Given the description of an element on the screen output the (x, y) to click on. 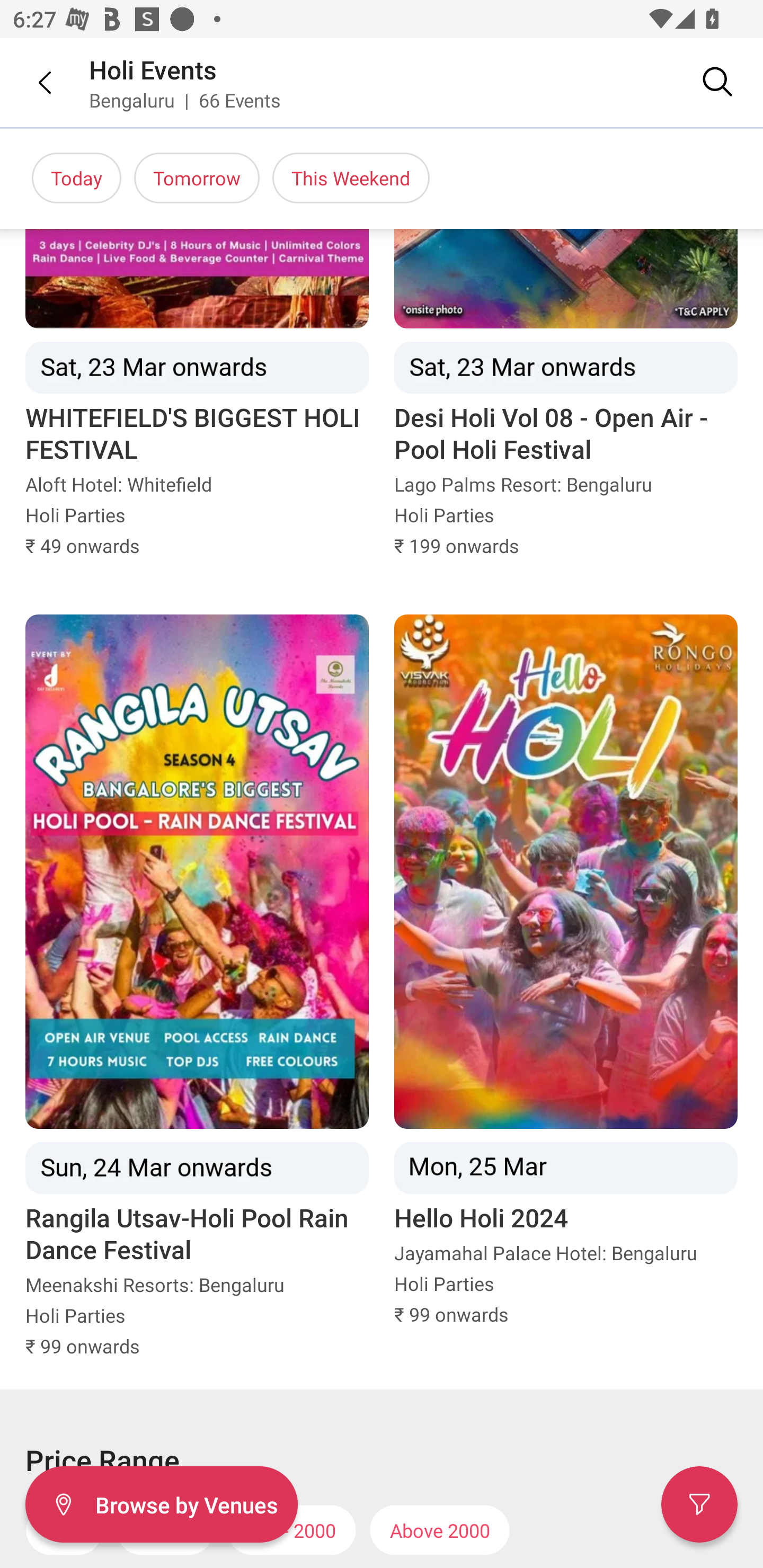
Back (31, 82)
Holi Events (153, 68)
Bengaluru  |  66 Events (185, 99)
Today (76, 177)
Tomorrow (196, 177)
This Weekend (350, 177)
Filter Browse by Venues (161, 1504)
Filter (699, 1504)
Above 2000 (439, 1529)
